Given the description of an element on the screen output the (x, y) to click on. 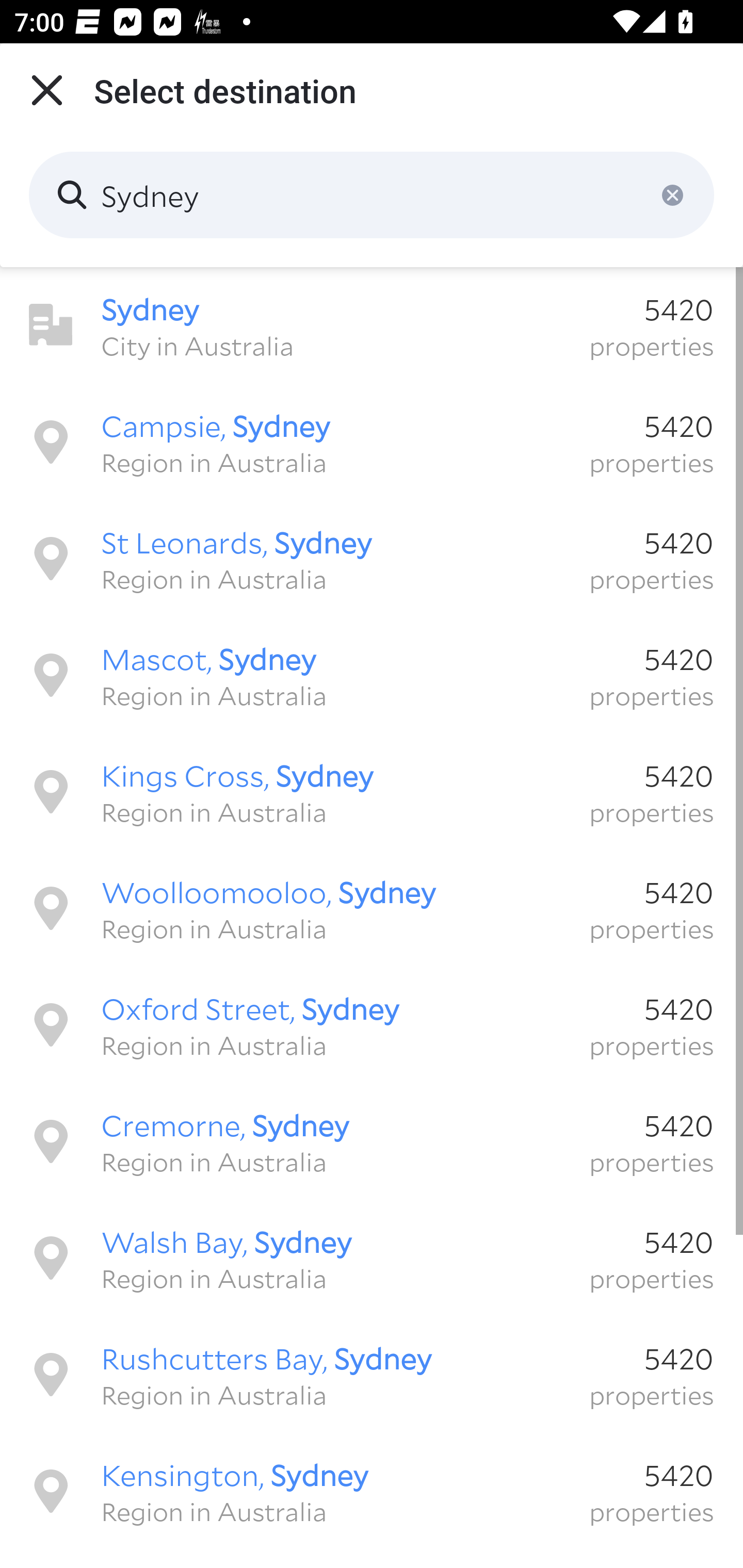
Sydney (371, 195)
Sydney 5420 City in Australia properties (371, 325)
Mascot, Sydney 5420 Region in Australia properties (371, 674)
